Given the description of an element on the screen output the (x, y) to click on. 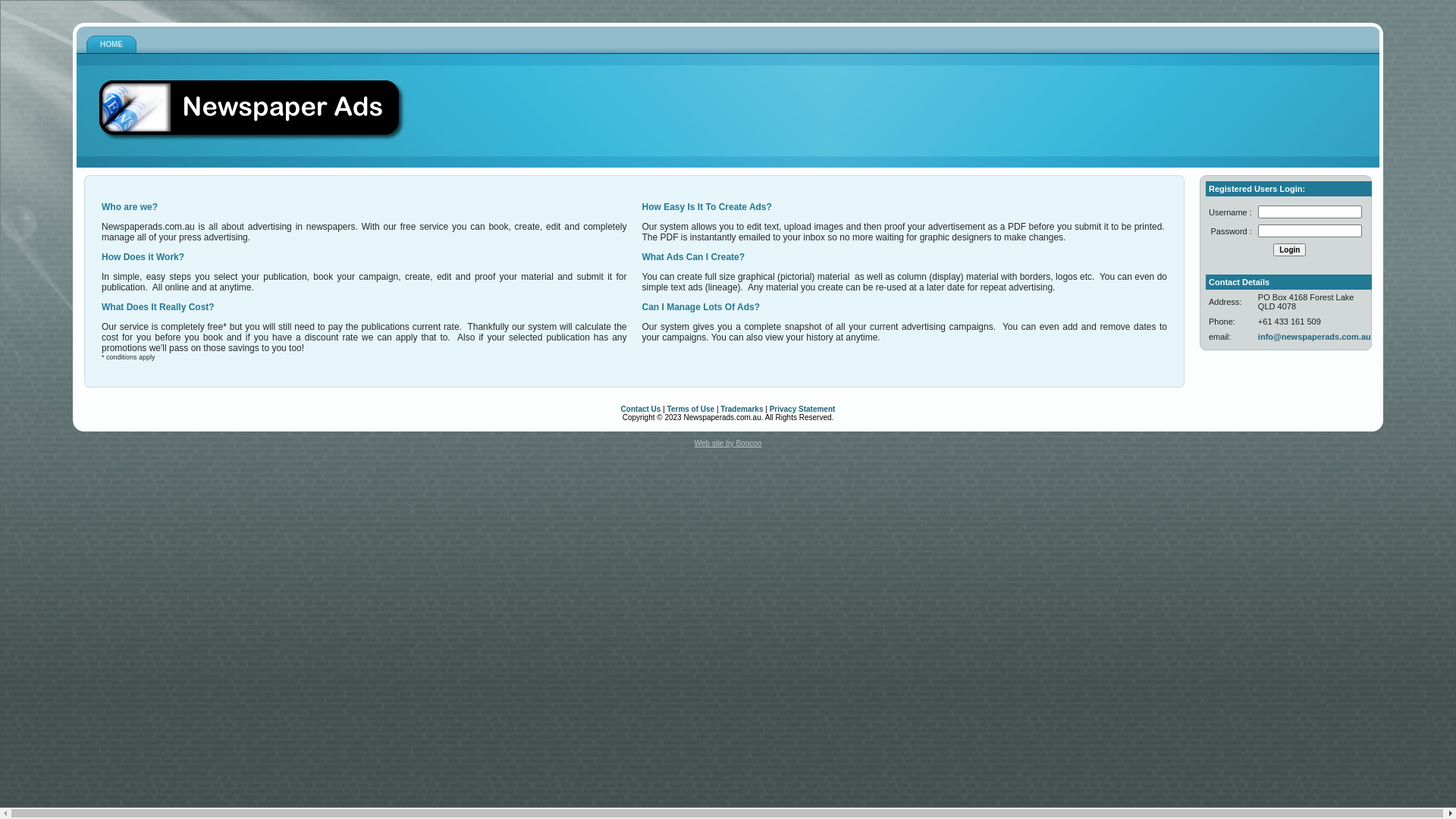
Web site by Boocoo Element type: text (728, 443)
Terms of Use Element type: text (691, 408)
Login Element type: text (1289, 249)
HOME Element type: text (111, 44)
Contact Us Element type: text (641, 408)
Newspaperads.com.au Element type: hover (251, 110)
Trademarks Element type: text (741, 408)
Privacy Statement Element type: text (802, 408)
info@newspaperads.com.au Element type: text (1314, 336)
